Given the description of an element on the screen output the (x, y) to click on. 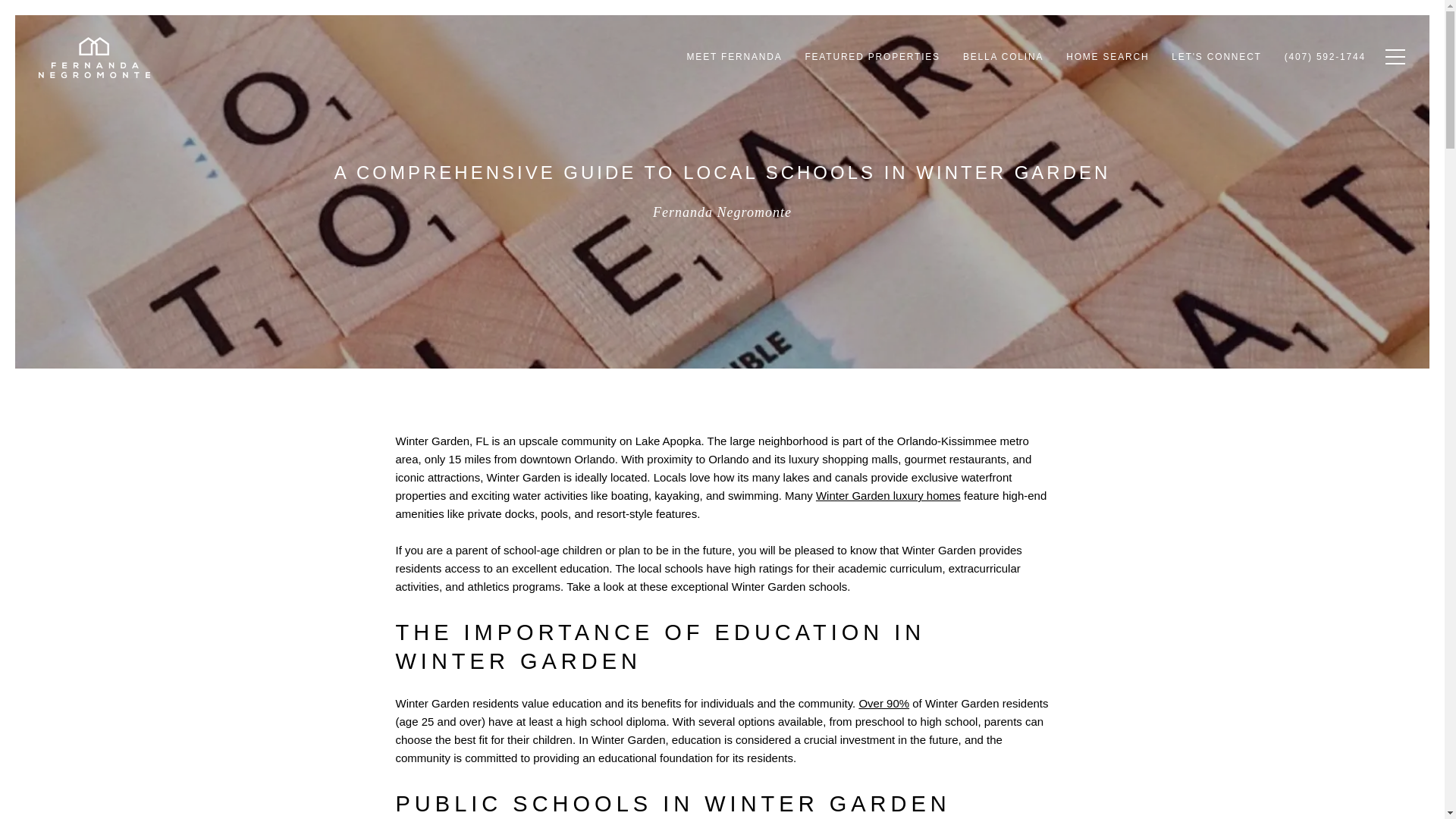
LET'S CONNECT (1216, 56)
BELLA COLINA (1003, 56)
MEET FERNANDA (734, 56)
HOME SEARCH (1107, 56)
Toggle navigation (1391, 56)
FEATURED PROPERTIES (871, 56)
